Given the description of an element on the screen output the (x, y) to click on. 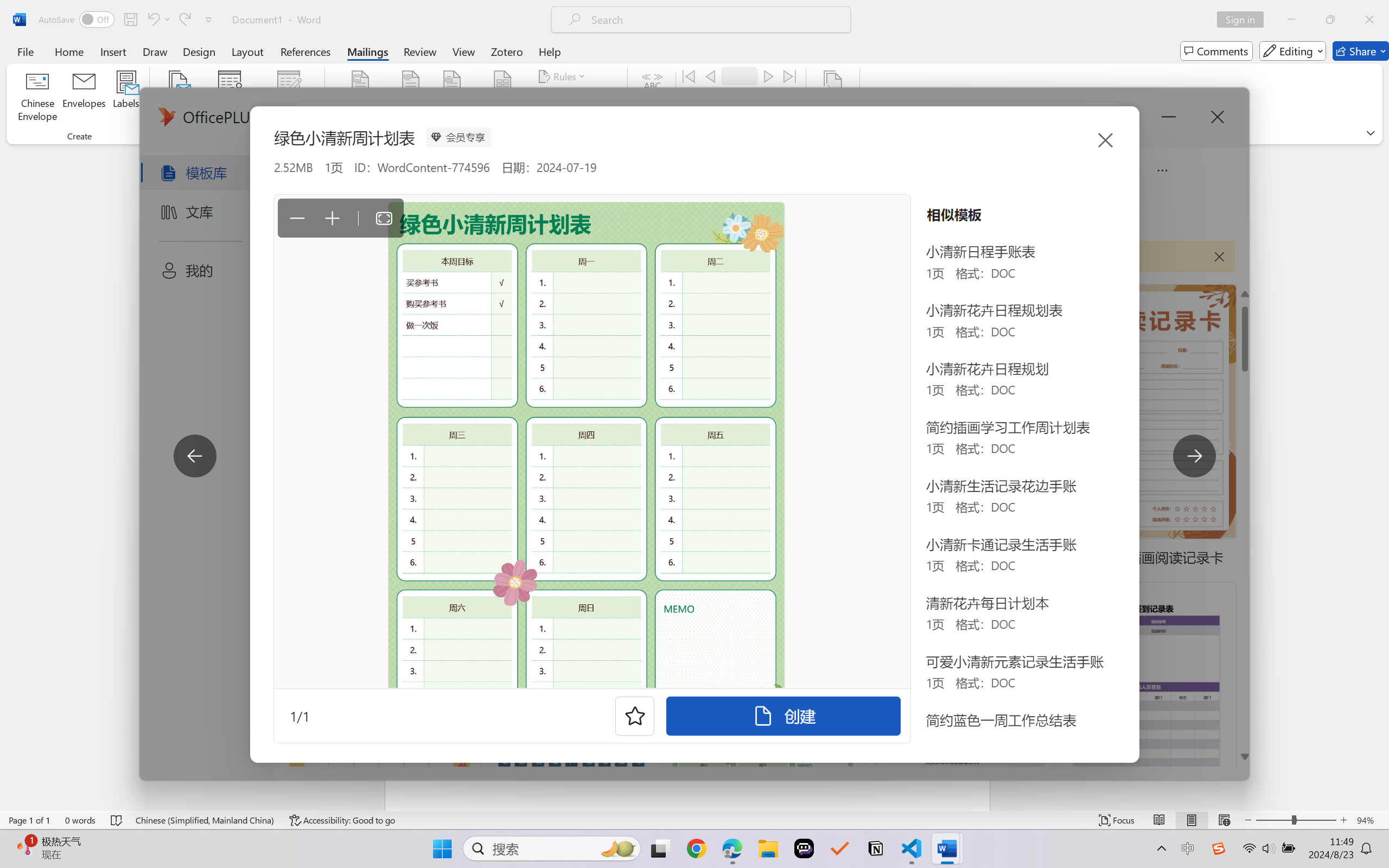
Previous (709, 75)
Record (739, 76)
Sign in (1244, 19)
